Given the description of an element on the screen output the (x, y) to click on. 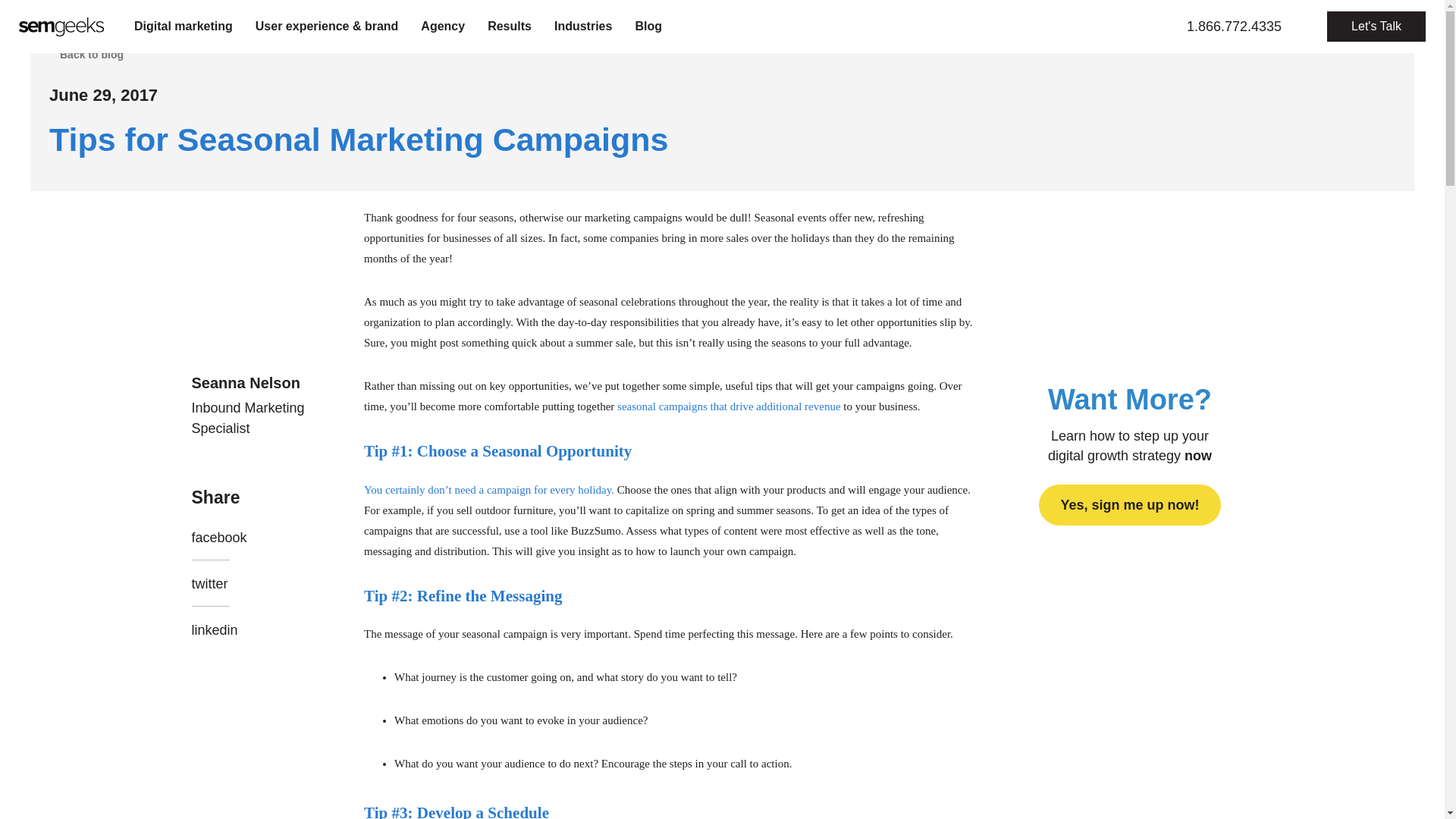
Content (103, 25)
Hospitality (387, 25)
Beach badge giveaway (277, 25)
Results (509, 25)
Team (97, 25)
Legal (528, 25)
Digital marketing (182, 25)
Blog (648, 25)
Brand storytelling (129, 25)
Finance (237, 25)
Agency (442, 25)
Ecommerce (115, 25)
Analytics (359, 25)
Industries (582, 25)
